Given the description of an element on the screen output the (x, y) to click on. 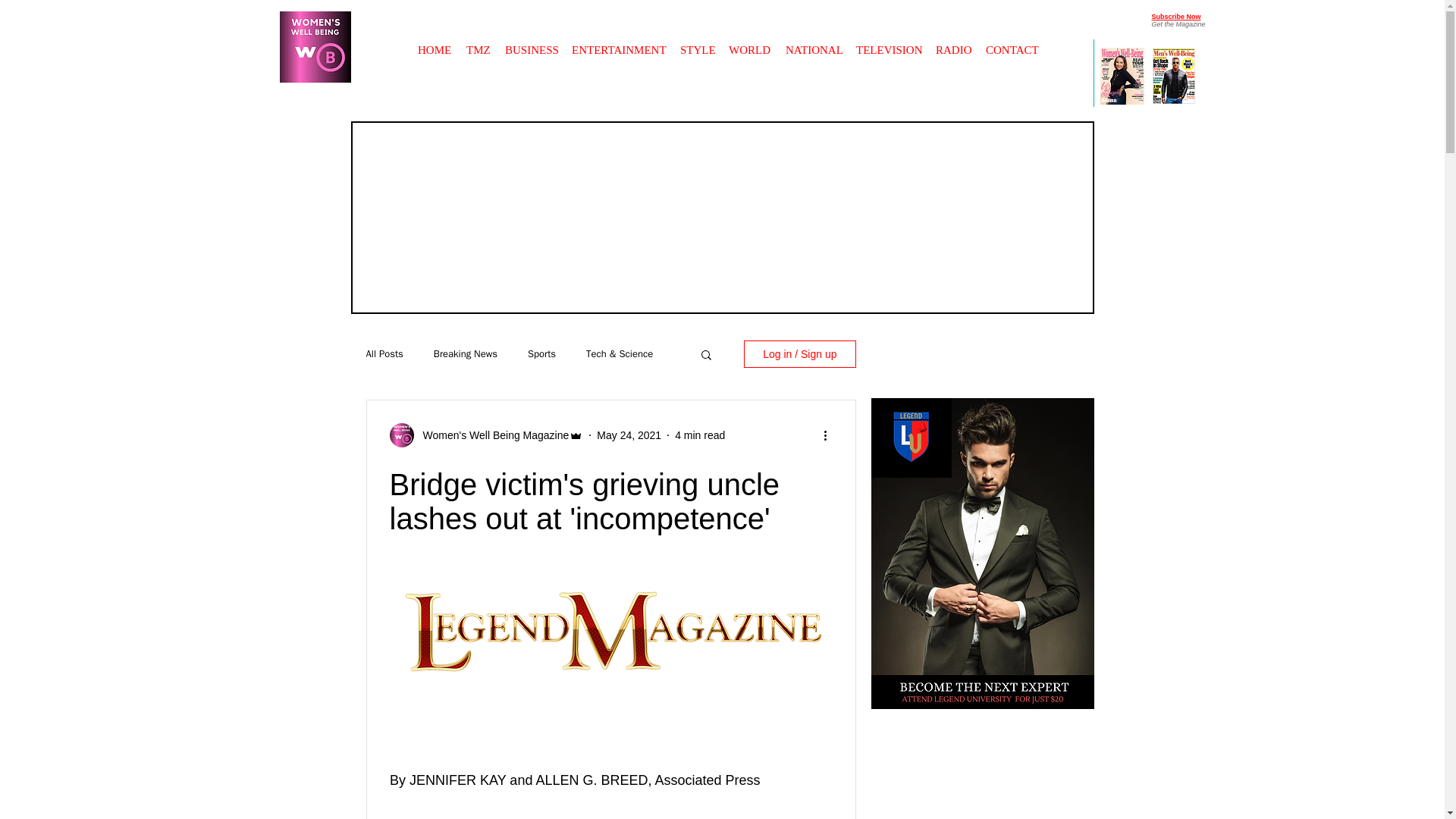
STYLE (696, 42)
May 24, 2021 (628, 435)
BUSINESS (530, 42)
All Posts (384, 354)
Women's Well Being Magazine  (491, 435)
Breaking News (465, 354)
Get the Magazine (1178, 23)
4 min read (700, 435)
Sports (541, 354)
ENTERTAINMENT (618, 42)
TELEVISION (888, 42)
RADIO (953, 42)
WORLD (748, 42)
NATIONAL (812, 42)
CONTACT (1011, 42)
